Given the description of an element on the screen output the (x, y) to click on. 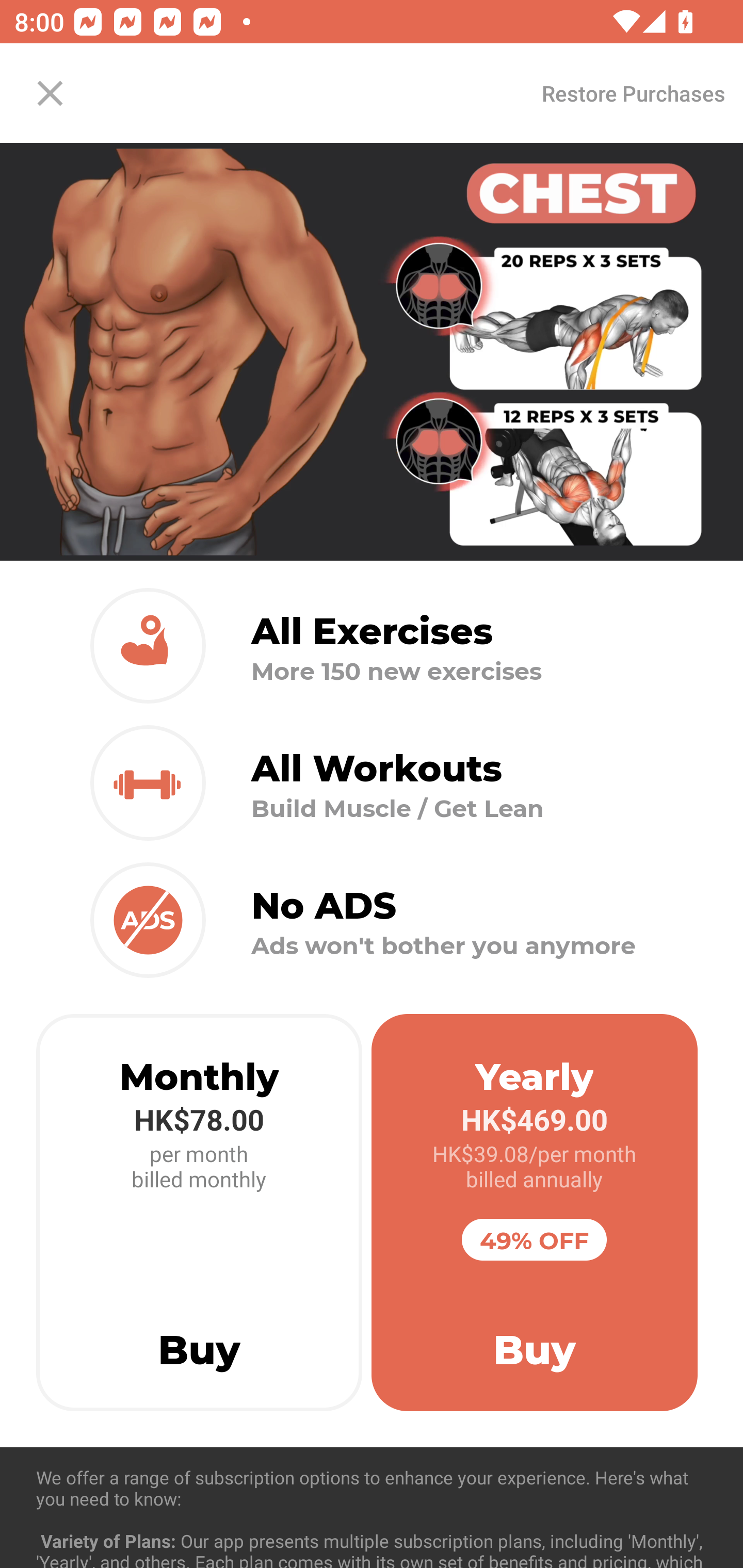
Restore Purchases (632, 92)
Monthly HK$78.00 per month
billed monthly Buy (199, 1212)
